Given the description of an element on the screen output the (x, y) to click on. 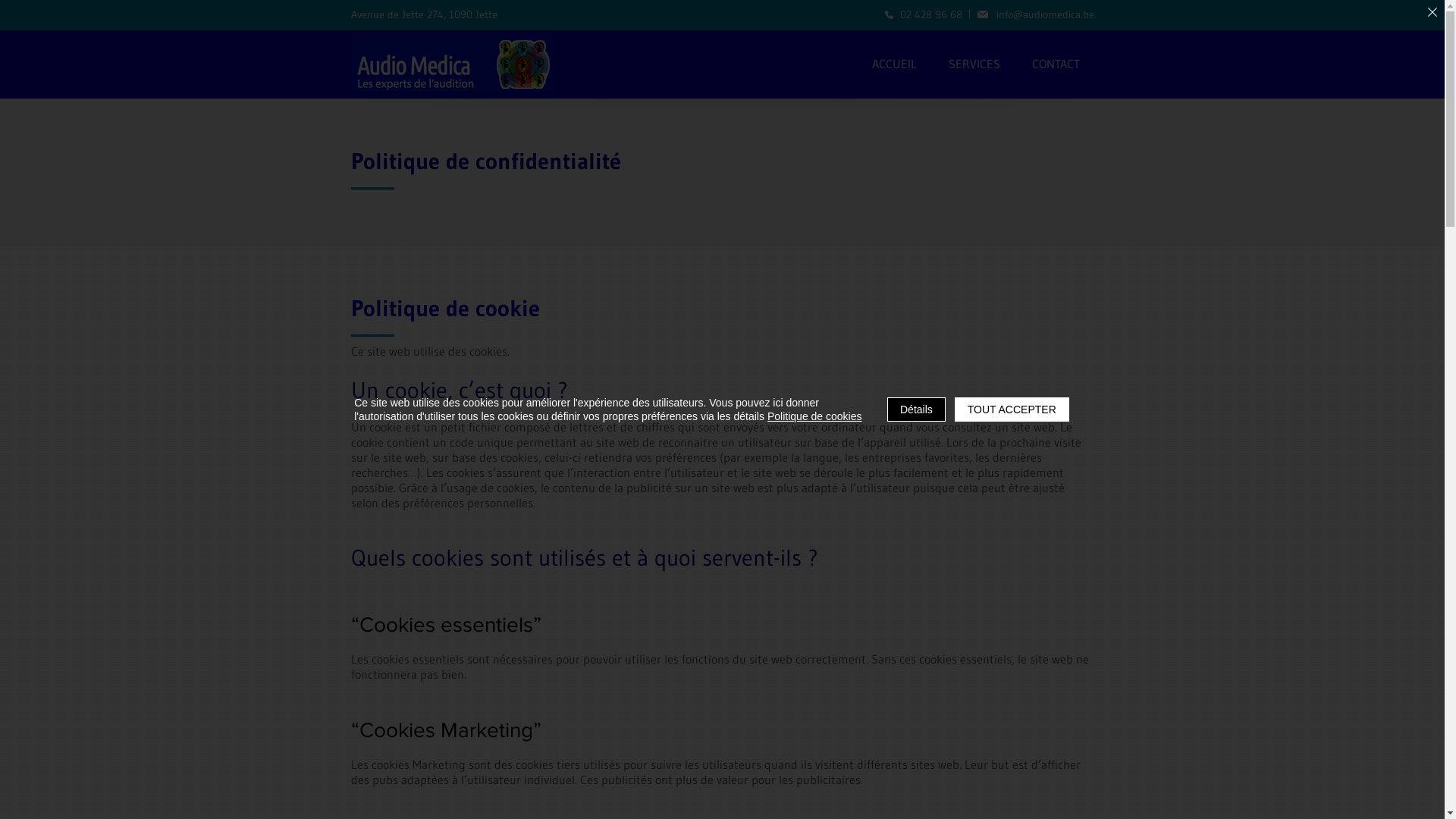
ACCUEIL Element type: text (893, 64)
info@audiomedica.be Element type: text (1034, 13)
CONTACT Element type: text (1055, 64)
02 428 96 68 Element type: text (922, 13)
SERVICES Element type: text (973, 64)
TOUT ACCEPTER Element type: text (1011, 409)
Politique de cookies Element type: text (814, 416)
